Given the description of an element on the screen output the (x, y) to click on. 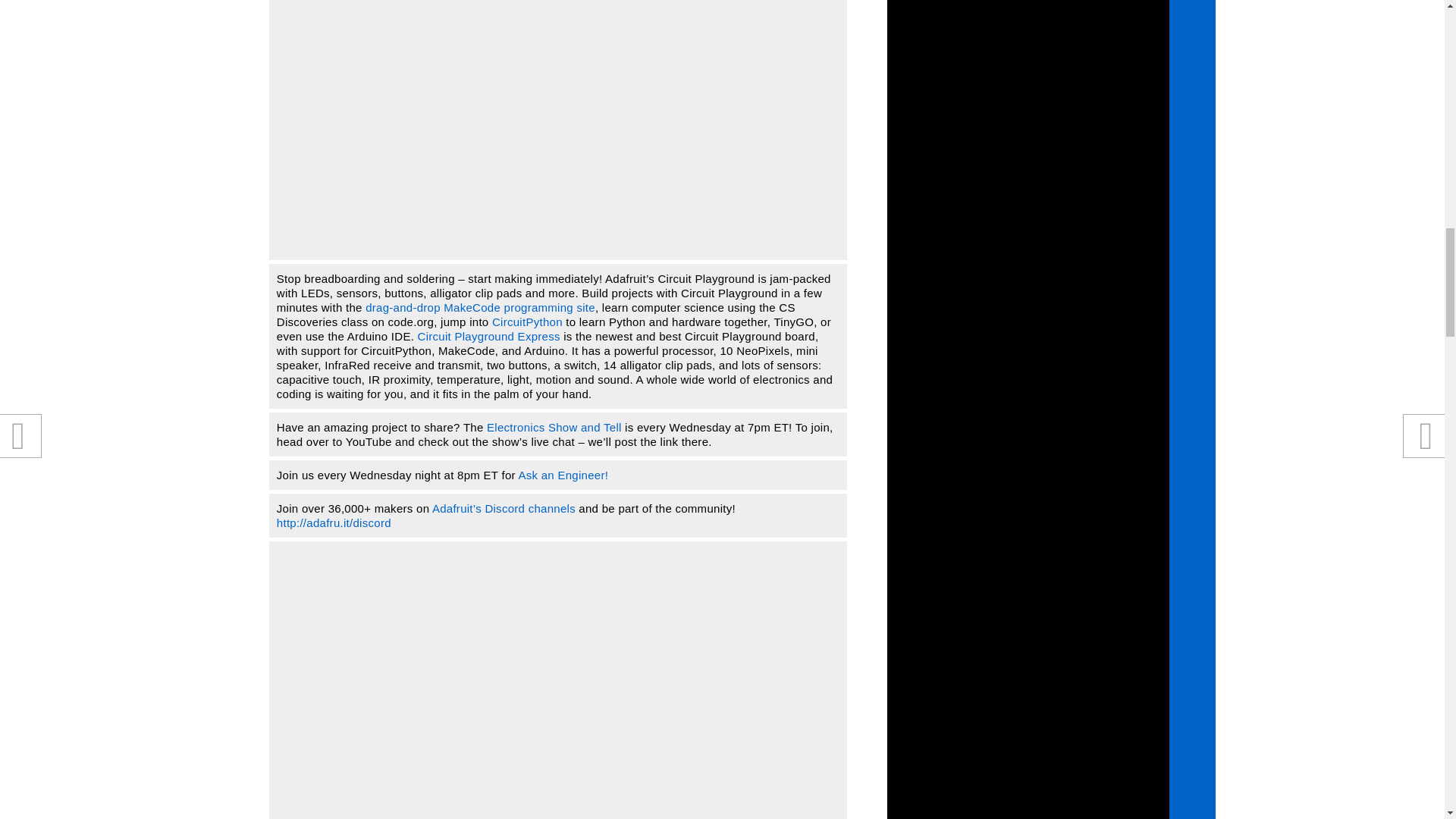
ASK AN ENGINEER (563, 474)
